Given the description of an element on the screen output the (x, y) to click on. 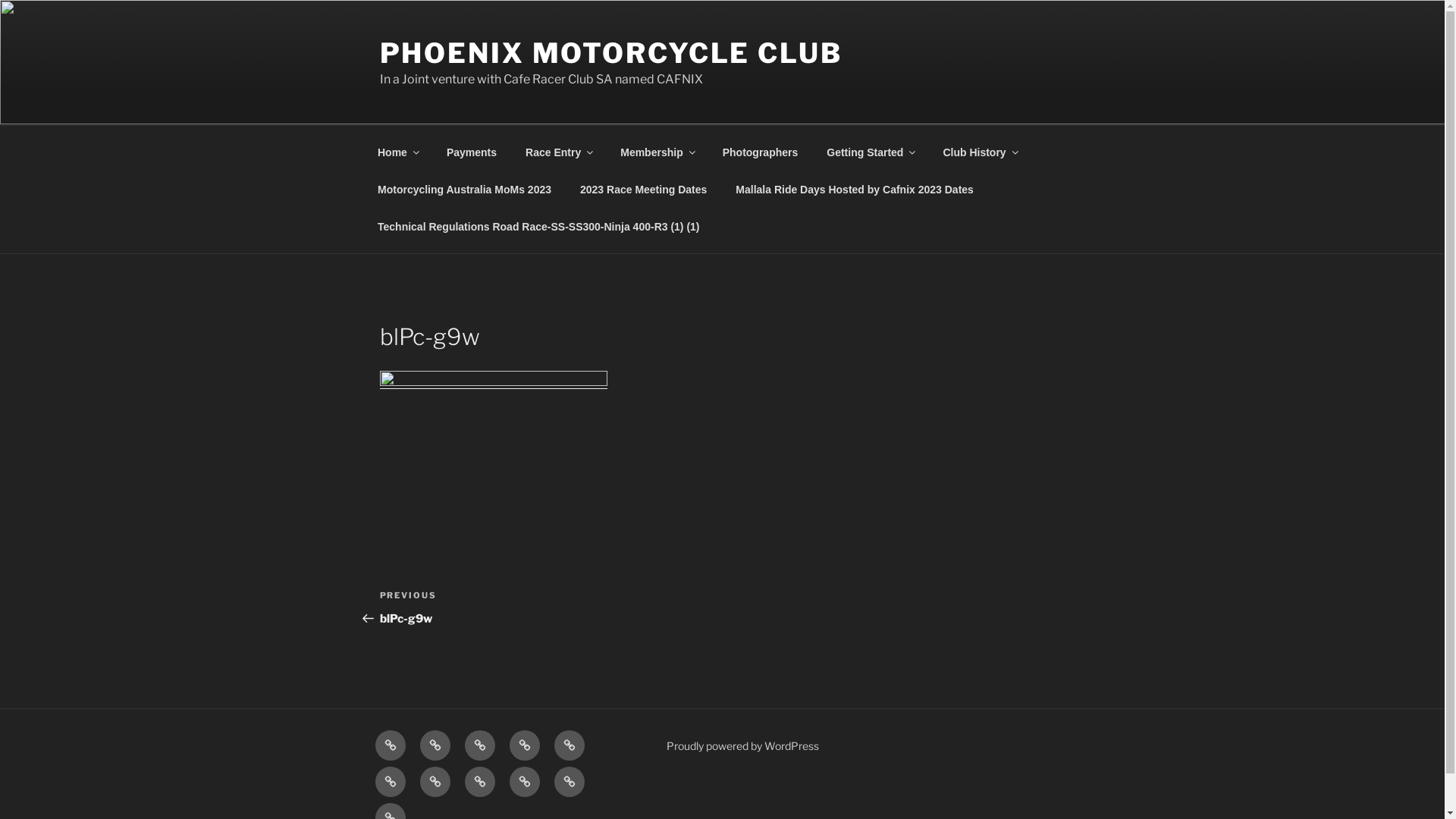
PHOENIX MOTORCYCLE CLUB Element type: text (610, 52)
Membership Element type: text (656, 151)
Payments Element type: text (435, 745)
Home Element type: text (397, 151)
Membership Element type: text (524, 745)
Mallala Ride Days Hosted by Cafnix 2023 Dates Element type: text (854, 189)
Home Element type: text (389, 745)
Photographers Element type: text (568, 745)
2023 Race Meeting Dates Element type: text (642, 189)
Previous Post
PREVIOUS
blPc-g9w Element type: text (550, 606)
2023 Race Meeting Dates Element type: text (524, 781)
Club History Element type: text (435, 781)
Getting Started Element type: text (389, 781)
Getting Started Element type: text (870, 151)
Motorcycling Australia MoMs 2023 Element type: text (464, 189)
Motorcycling Australia MoMs 2023 Element type: text (479, 781)
Payments Element type: text (471, 151)
Race Entry Element type: text (479, 745)
Photographers Element type: text (760, 151)
Mallala Ride Days Hosted by Cafnix 2023 Dates Element type: text (568, 781)
Race Entry Element type: text (558, 151)
Club History Element type: text (979, 151)
Proudly powered by WordPress Element type: text (742, 745)
